Given the description of an element on the screen output the (x, y) to click on. 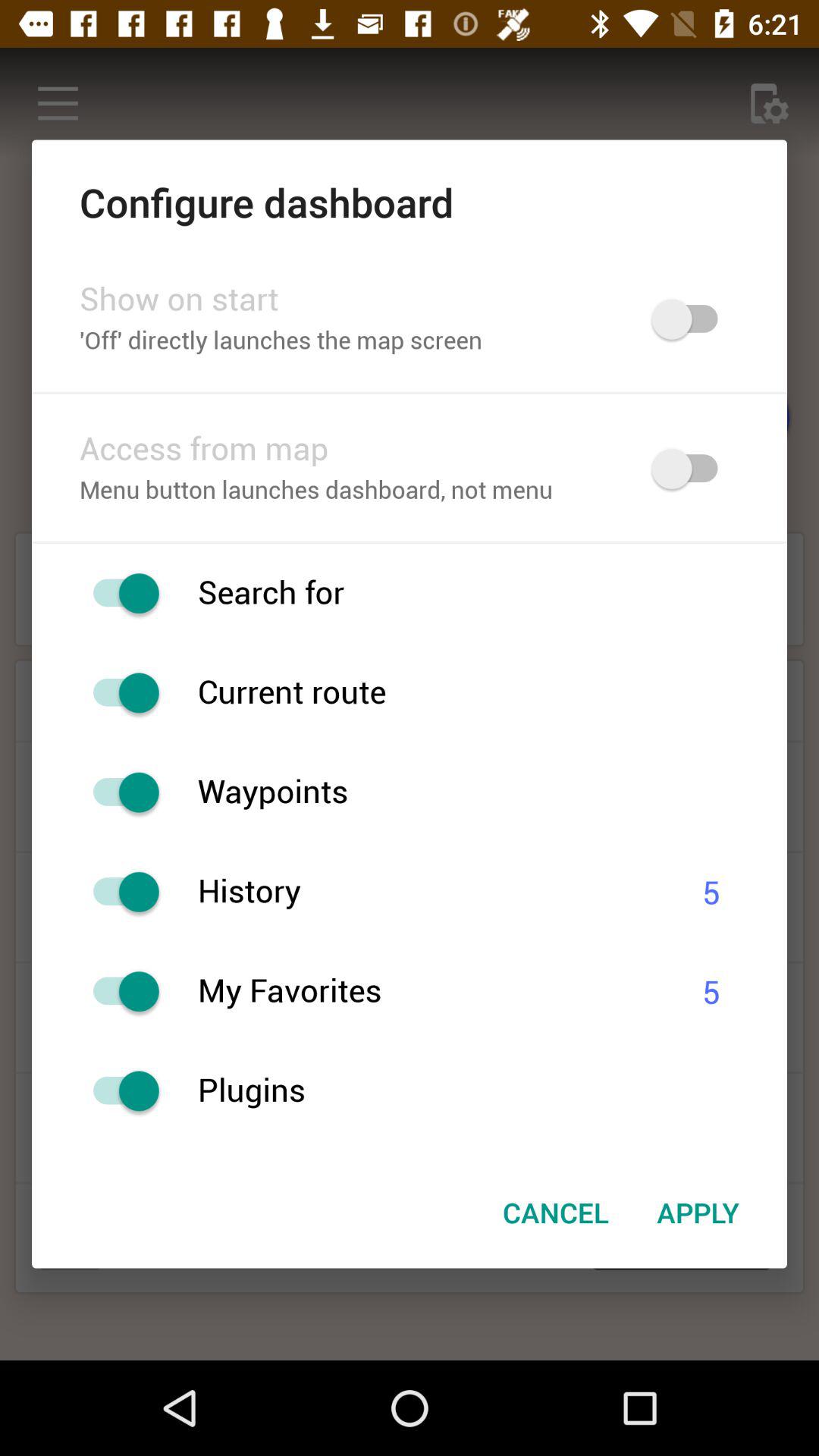
toggle dashboard startup (691, 319)
